Given the description of an element on the screen output the (x, y) to click on. 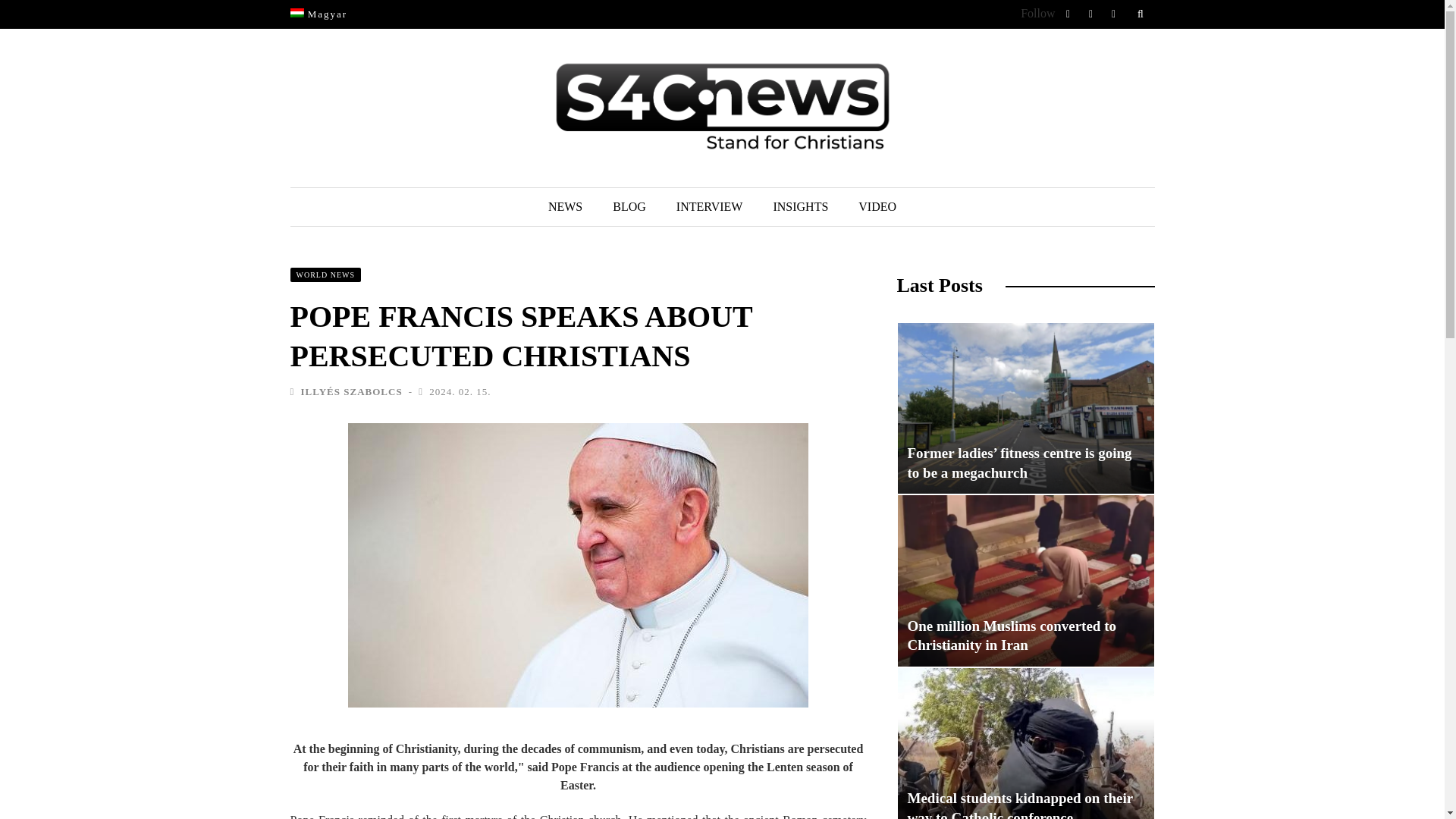
Magyar (295, 12)
WORLD NEWS (325, 274)
NEWS (564, 207)
VIDEO (877, 207)
INSIGHTS (800, 207)
Follow (1037, 12)
Magyar (318, 13)
One million Muslims converted to Christianity in Iran (1011, 635)
INTERVIEW (709, 207)
BLOG (628, 207)
